Given the description of an element on the screen output the (x, y) to click on. 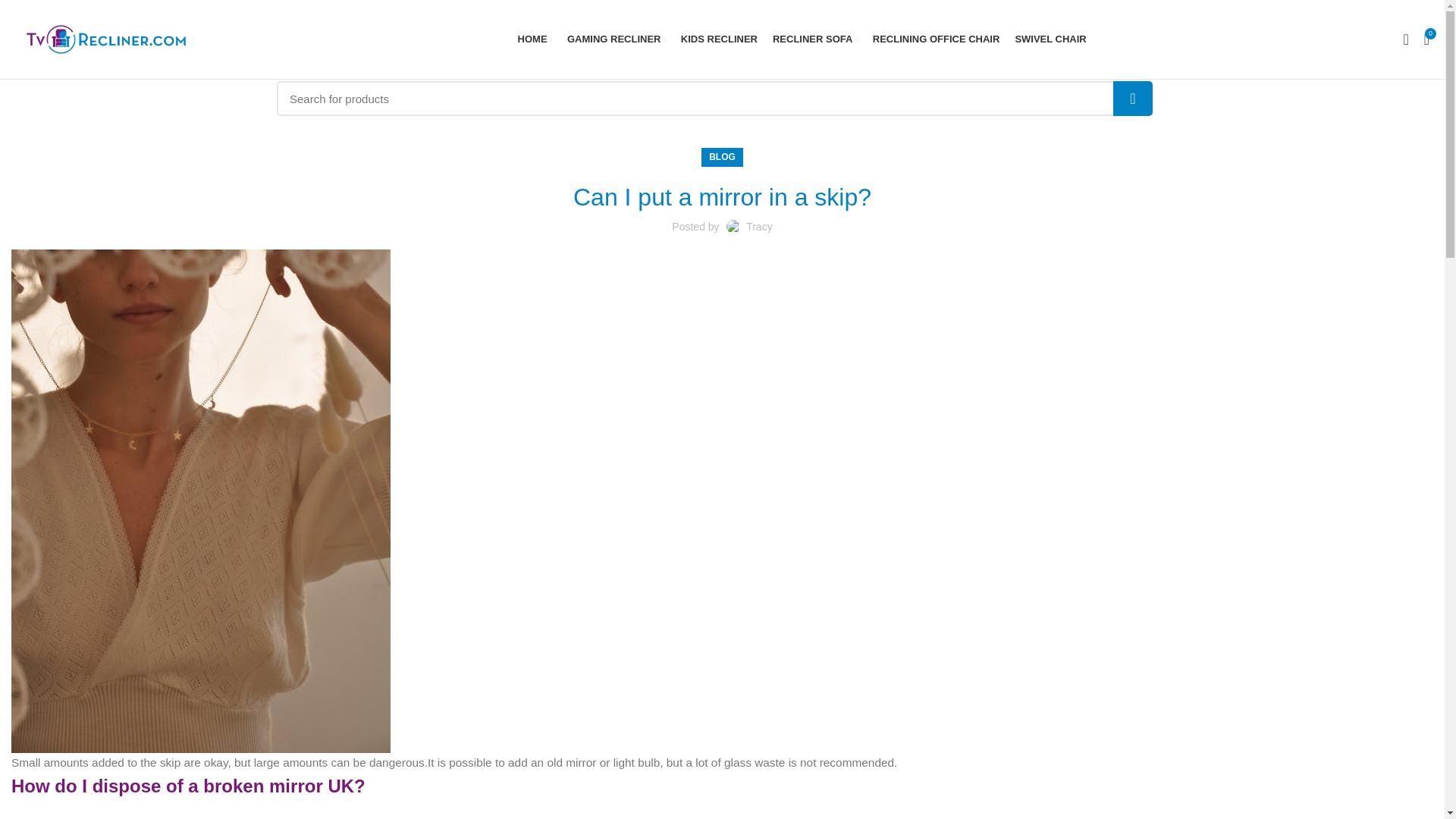
SWIVEL CHAIR (1050, 39)
Search for products (714, 98)
Tracy (758, 226)
KIDS RECLINER (718, 39)
HOME (535, 39)
SEARCH (1133, 98)
BLOG (722, 157)
GAMING RECLINER (615, 39)
RECLINING OFFICE CHAIR (935, 39)
RECLINER SOFA (814, 39)
